Given the description of an element on the screen output the (x, y) to click on. 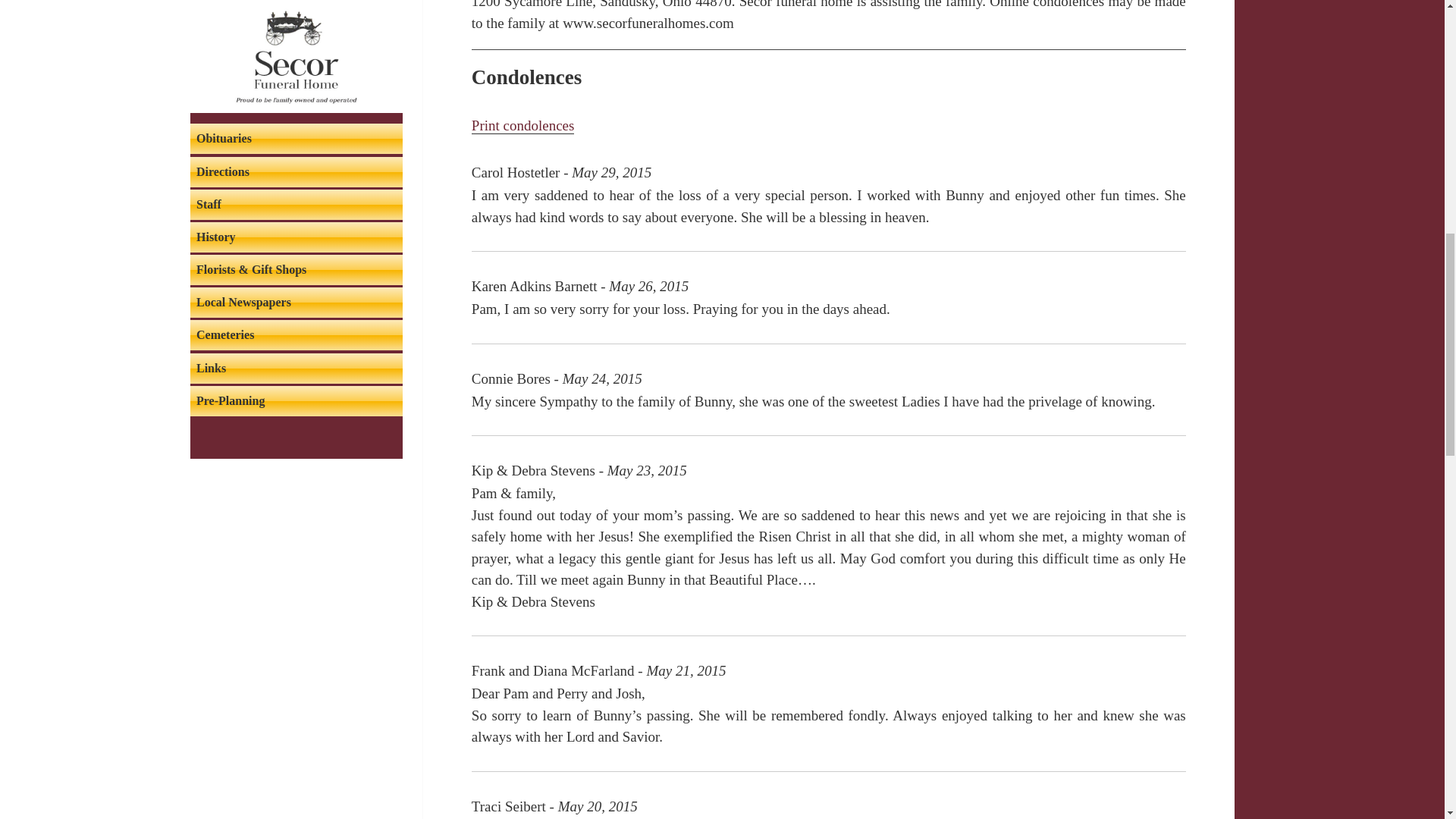
Print condolences (523, 125)
